Given the description of an element on the screen output the (x, y) to click on. 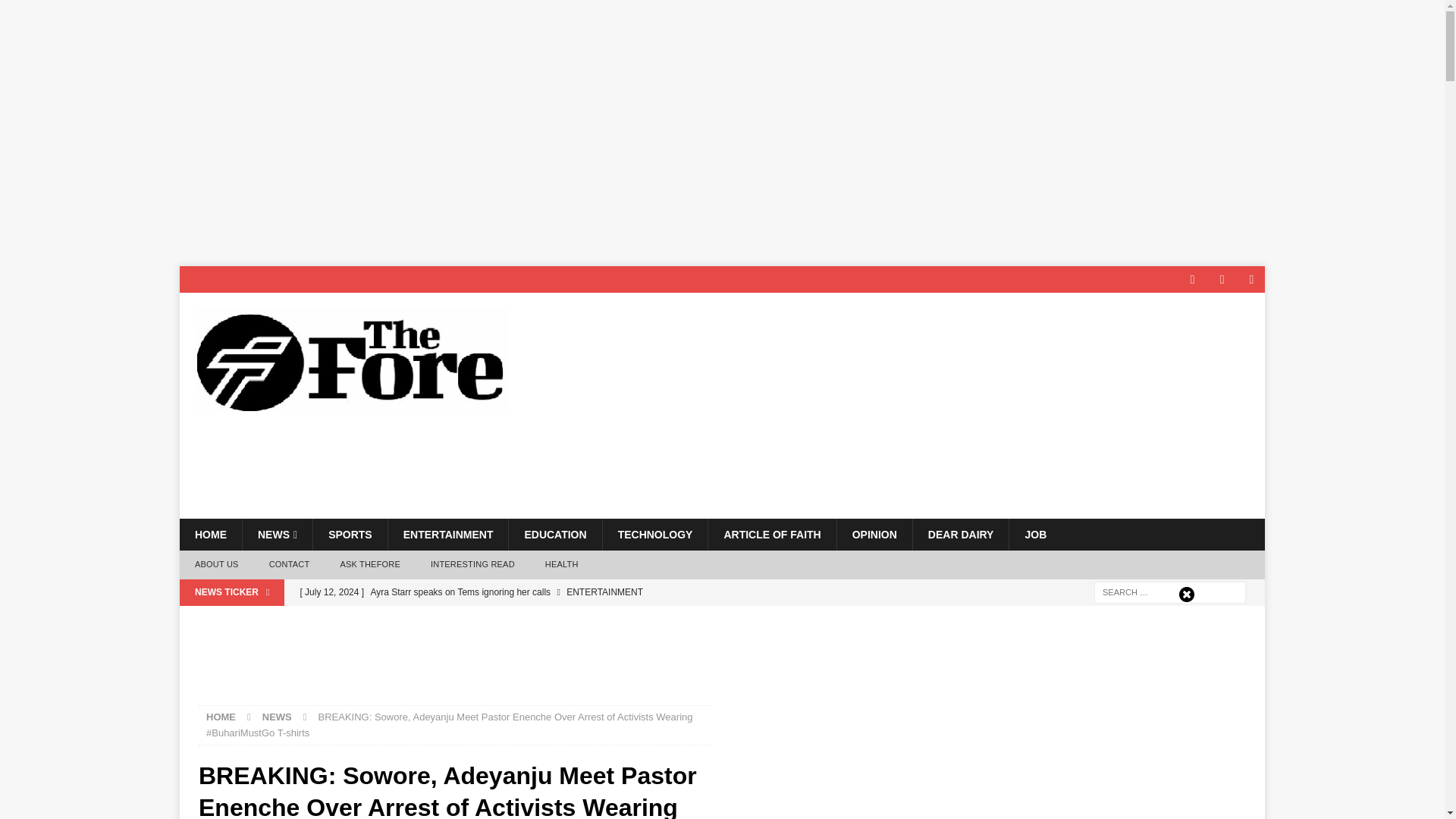
SPORTS (350, 534)
EDUCATION (554, 534)
HOME (210, 534)
NEWS (277, 534)
Advertisement (455, 664)
OPINION (873, 534)
TECHNOLOGY (654, 534)
ABOUT US (216, 564)
ENTERTAINMENT (447, 534)
ASK THEFORE (369, 564)
JOB (1035, 534)
ARTICLE OF FAITH (771, 534)
CONTACT (288, 564)
Advertisement (973, 448)
